Given the description of an element on the screen output the (x, y) to click on. 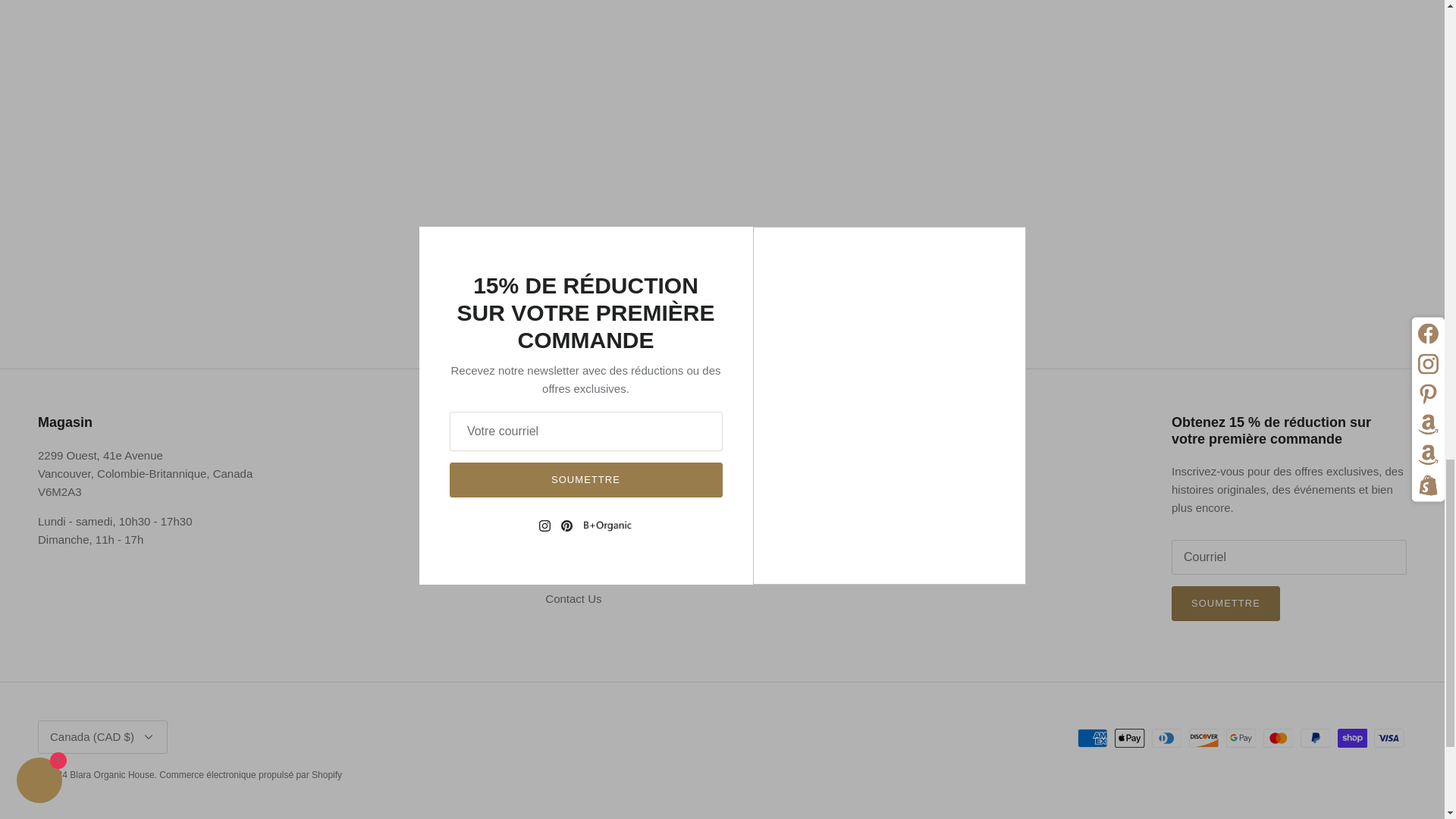
Google Pay (1240, 737)
American Express (1092, 737)
Apple Pay (1129, 737)
Diners Club (1166, 737)
Discover (1203, 737)
Mastercard (1277, 737)
